Given the description of an element on the screen output the (x, y) to click on. 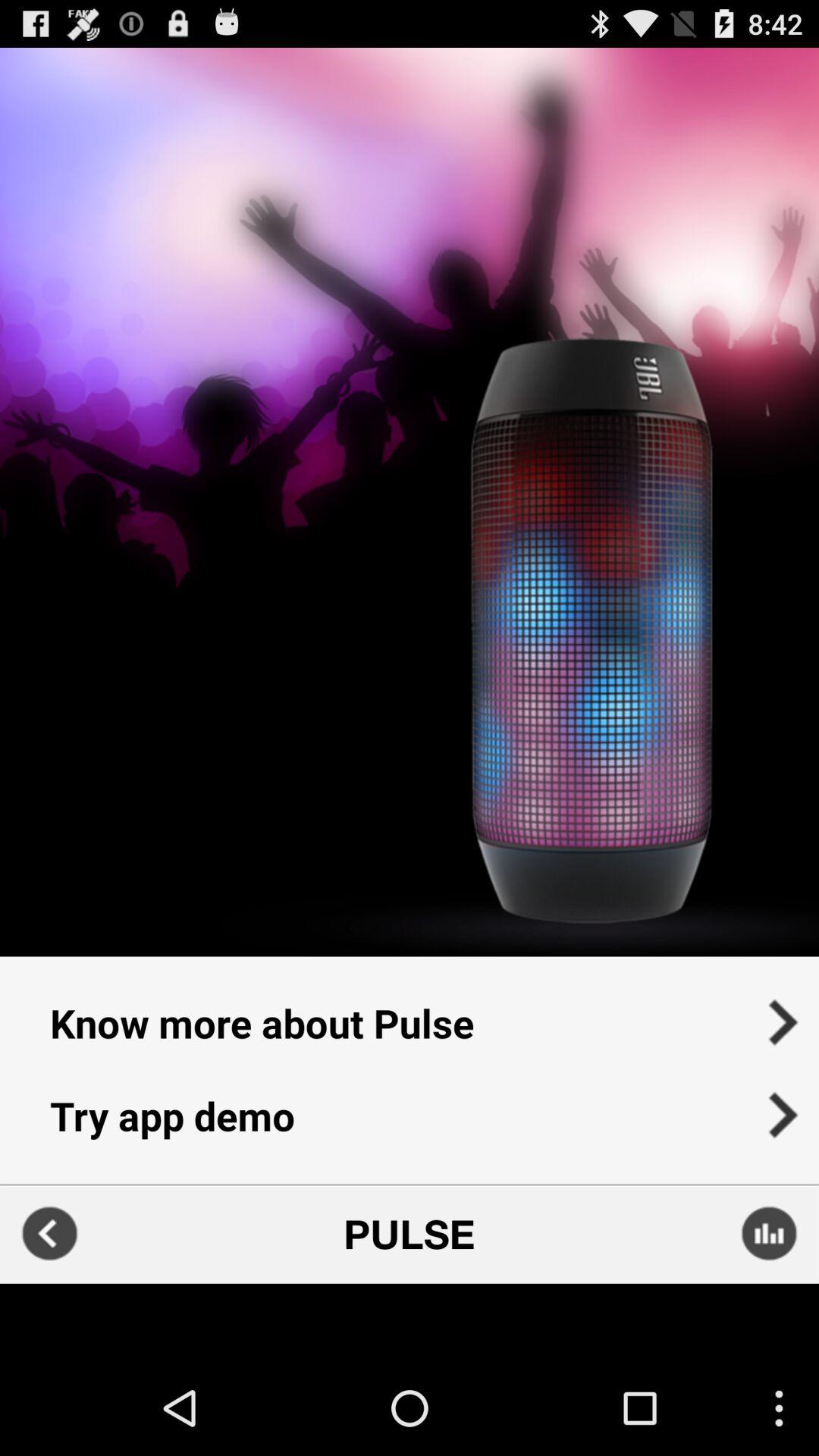
select try app demo (409, 1125)
